Given the description of an element on the screen output the (x, y) to click on. 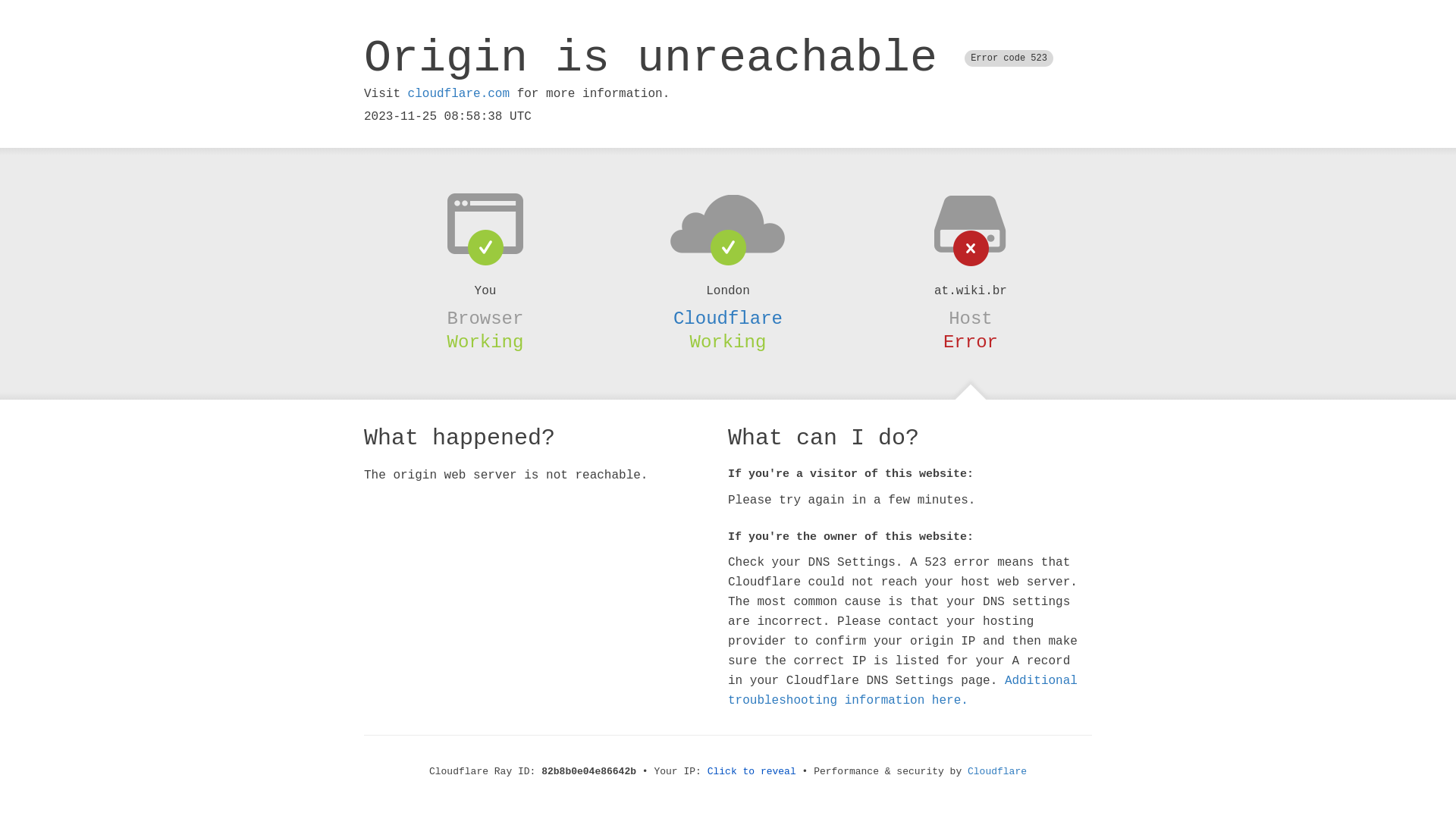
cloudflare.com Element type: text (458, 93)
Cloudflare Element type: text (996, 771)
Cloudflare Element type: text (727, 318)
Click to reveal Element type: text (751, 771)
Additional troubleshooting information here. Element type: text (902, 690)
